Given the description of an element on the screen output the (x, y) to click on. 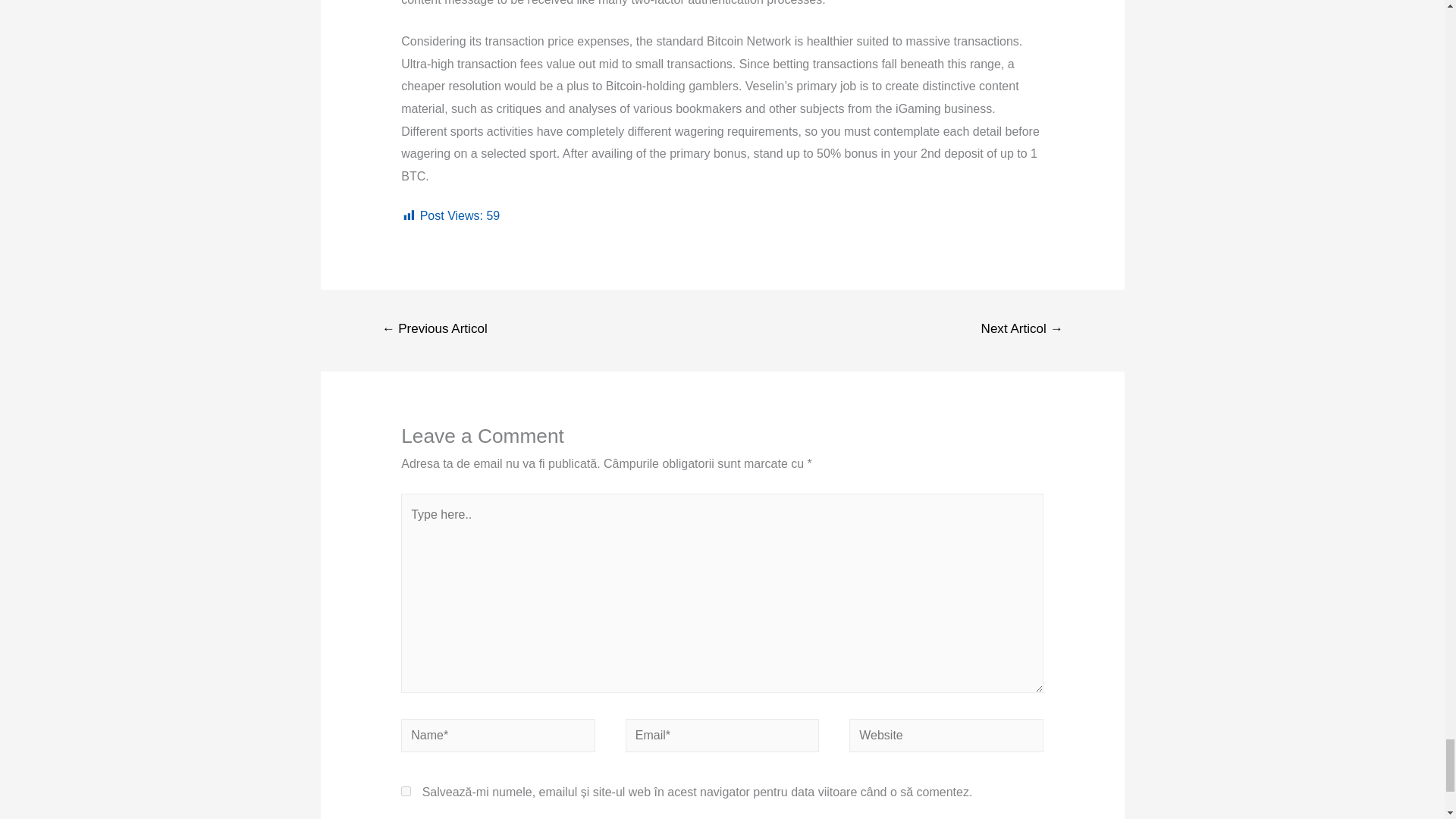
yes (405, 791)
